Given the description of an element on the screen output the (x, y) to click on. 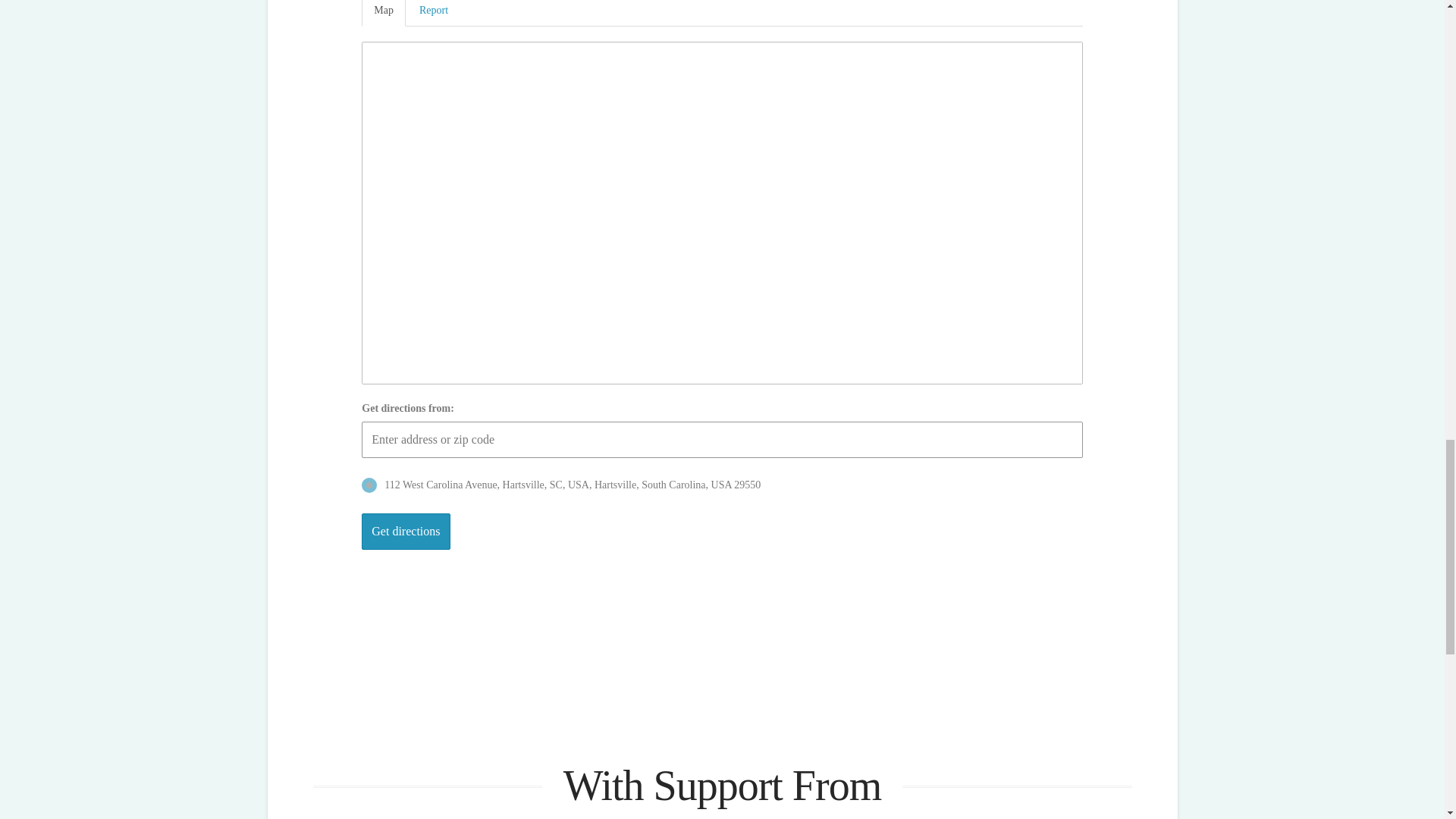
Map (383, 13)
Report (433, 13)
Get directions (405, 531)
